Given the description of an element on the screen output the (x, y) to click on. 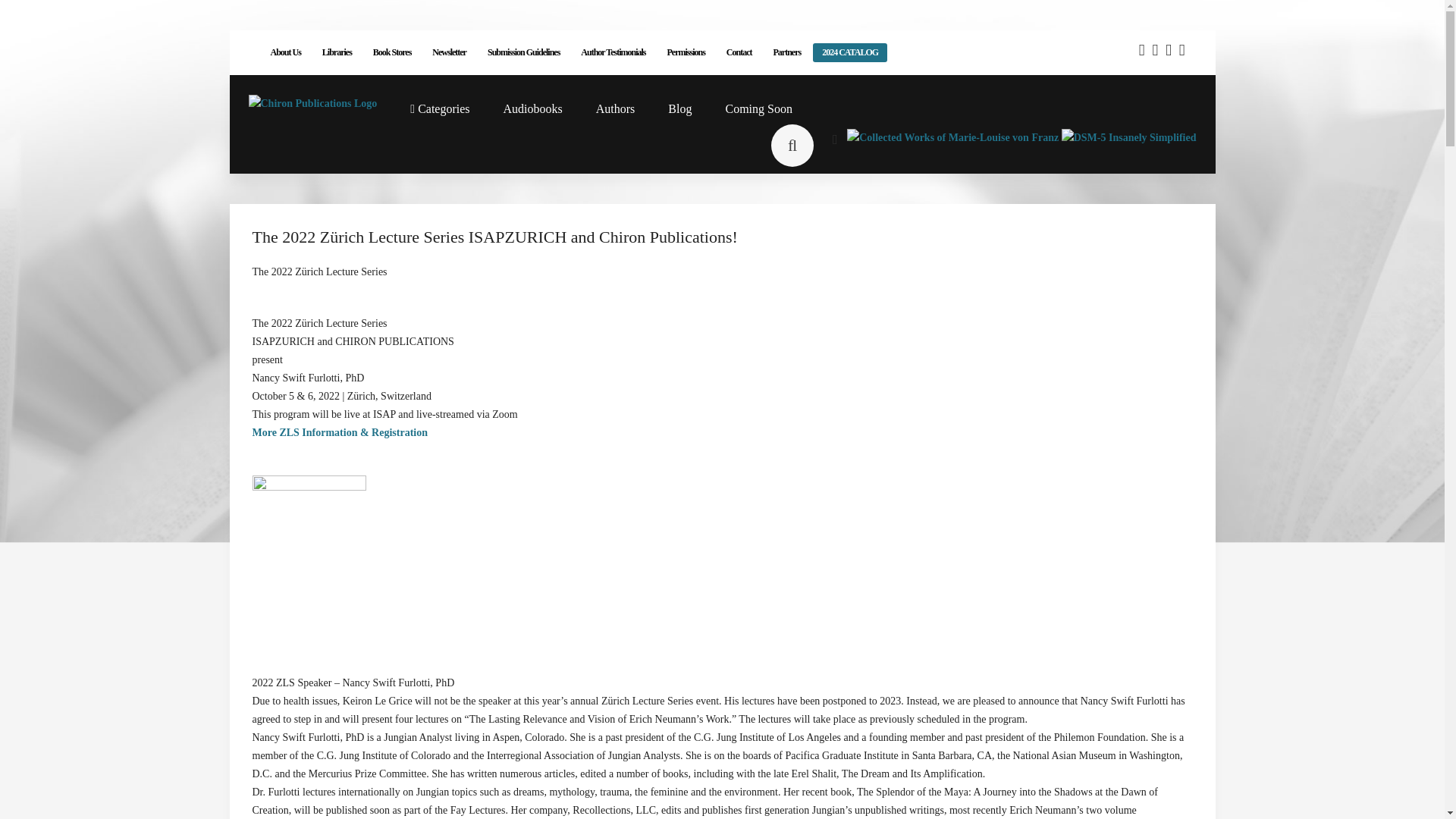
Partners (787, 52)
Newsletter (449, 52)
Book Stores (392, 52)
Categories (439, 109)
Submission Guidelines (524, 52)
Libraries (337, 52)
Author Testimonials (612, 52)
Permissions (685, 52)
2024 CATALOG (849, 52)
Contact (739, 52)
